Given the description of an element on the screen output the (x, y) to click on. 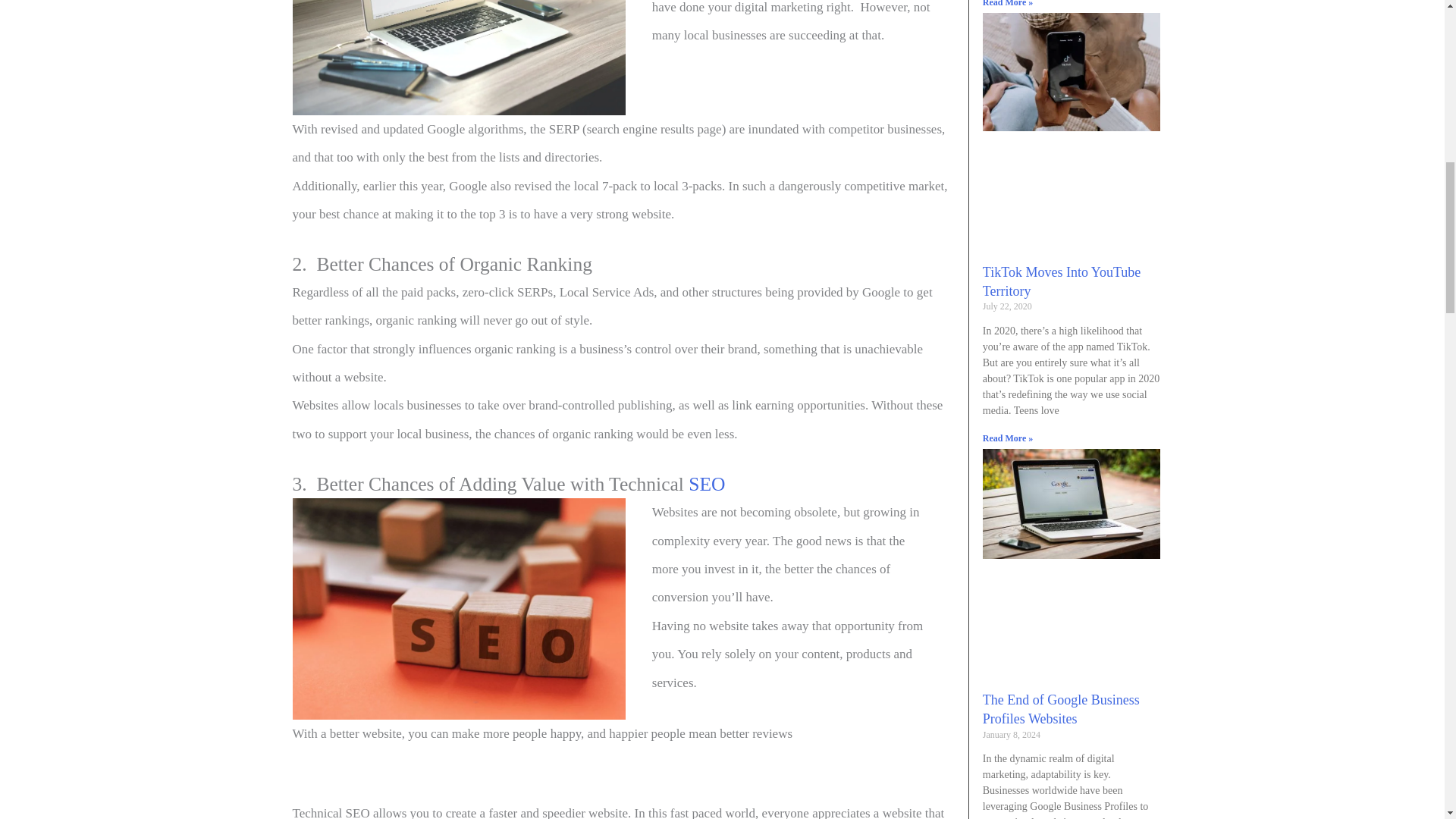
Digital Marketing (459, 608)
Digital Marketing (459, 57)
